Given the description of an element on the screen output the (x, y) to click on. 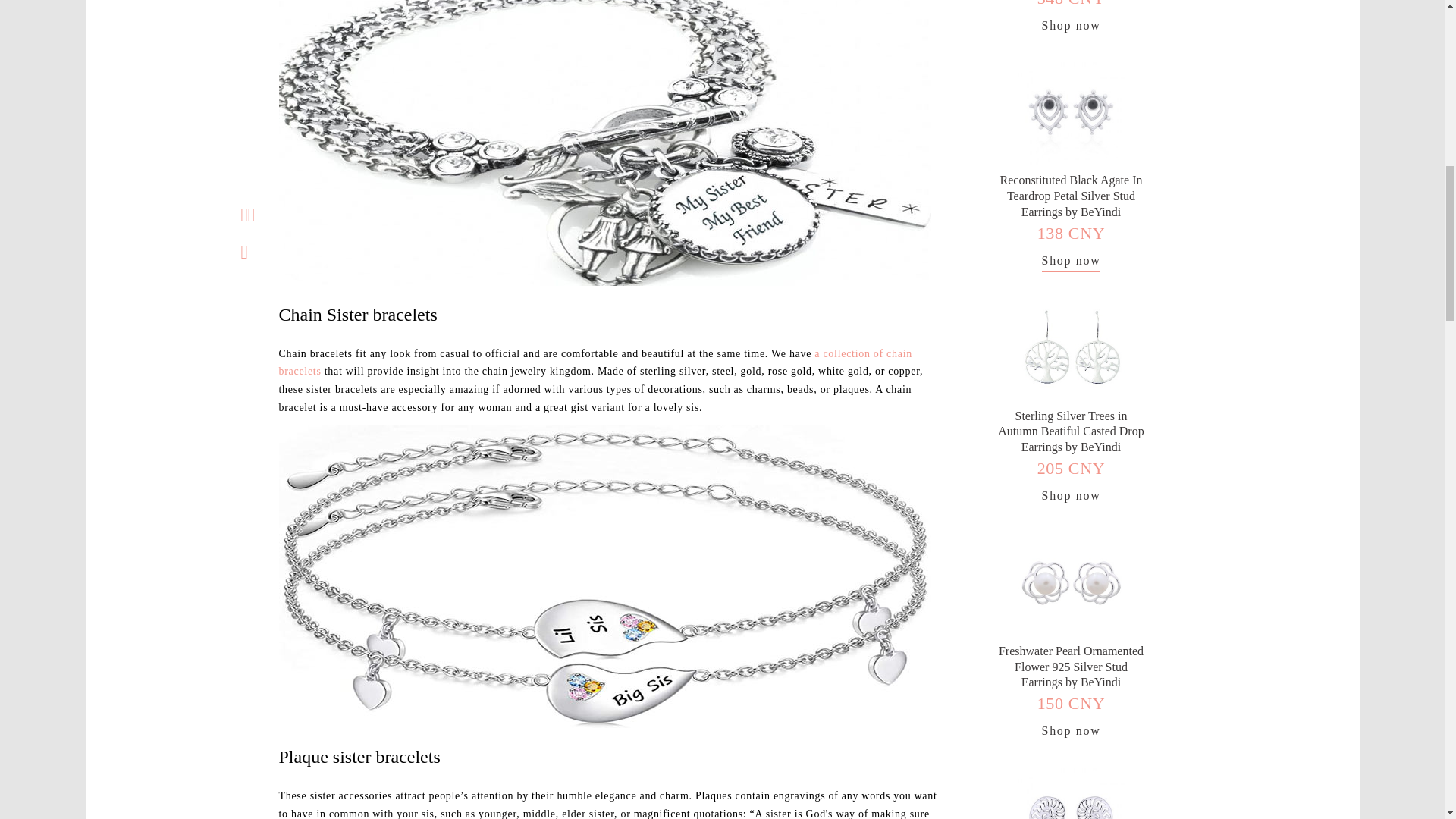
Shop now (1071, 262)
Shop now (1071, 27)
Shop now (1071, 497)
Shop now (1071, 732)
